Given the description of an element on the screen output the (x, y) to click on. 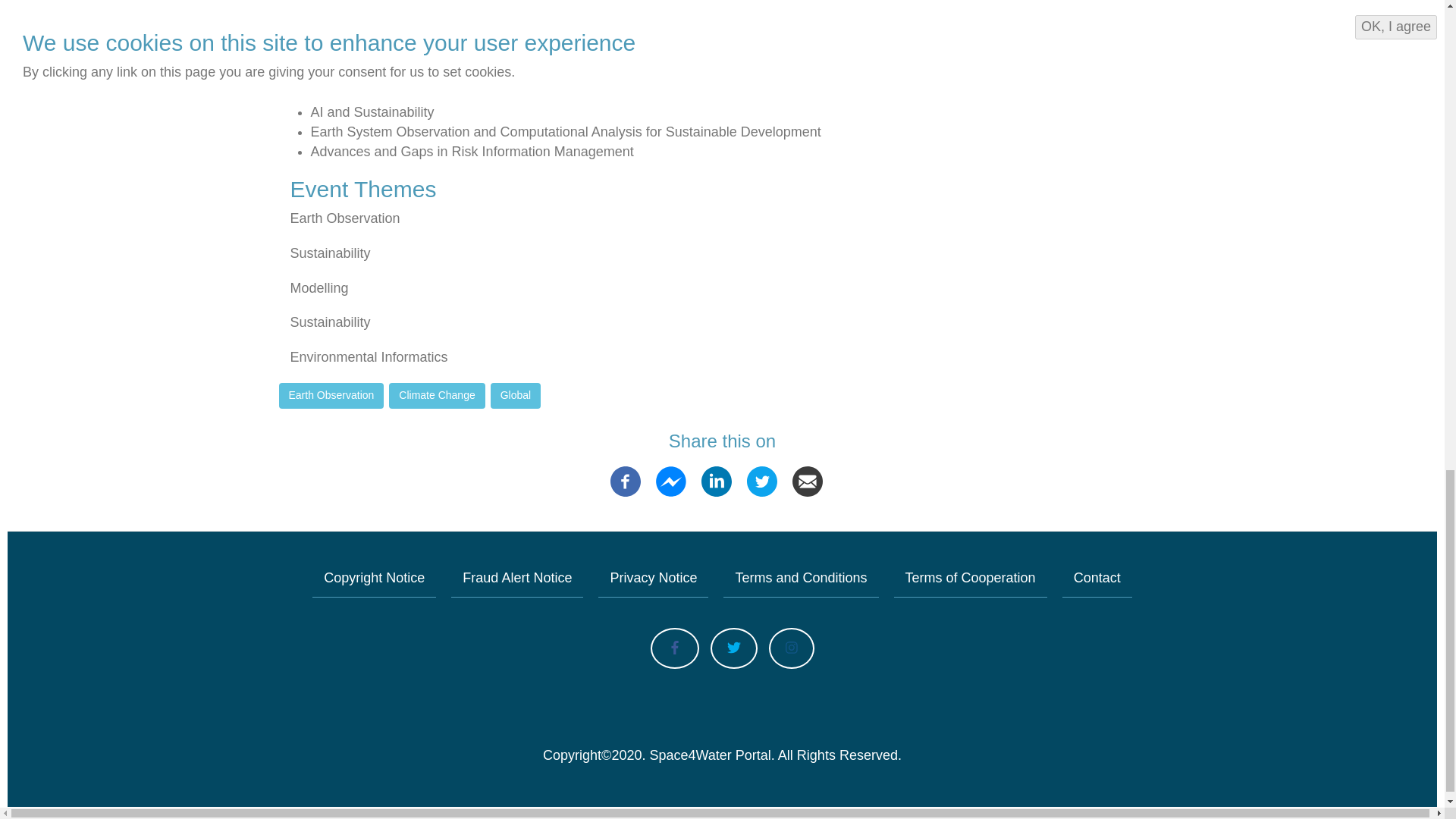
Facebook (625, 480)
Linkedin (716, 480)
Facebook messenger (670, 480)
Email (807, 480)
Twitter (761, 480)
